Given the description of an element on the screen output the (x, y) to click on. 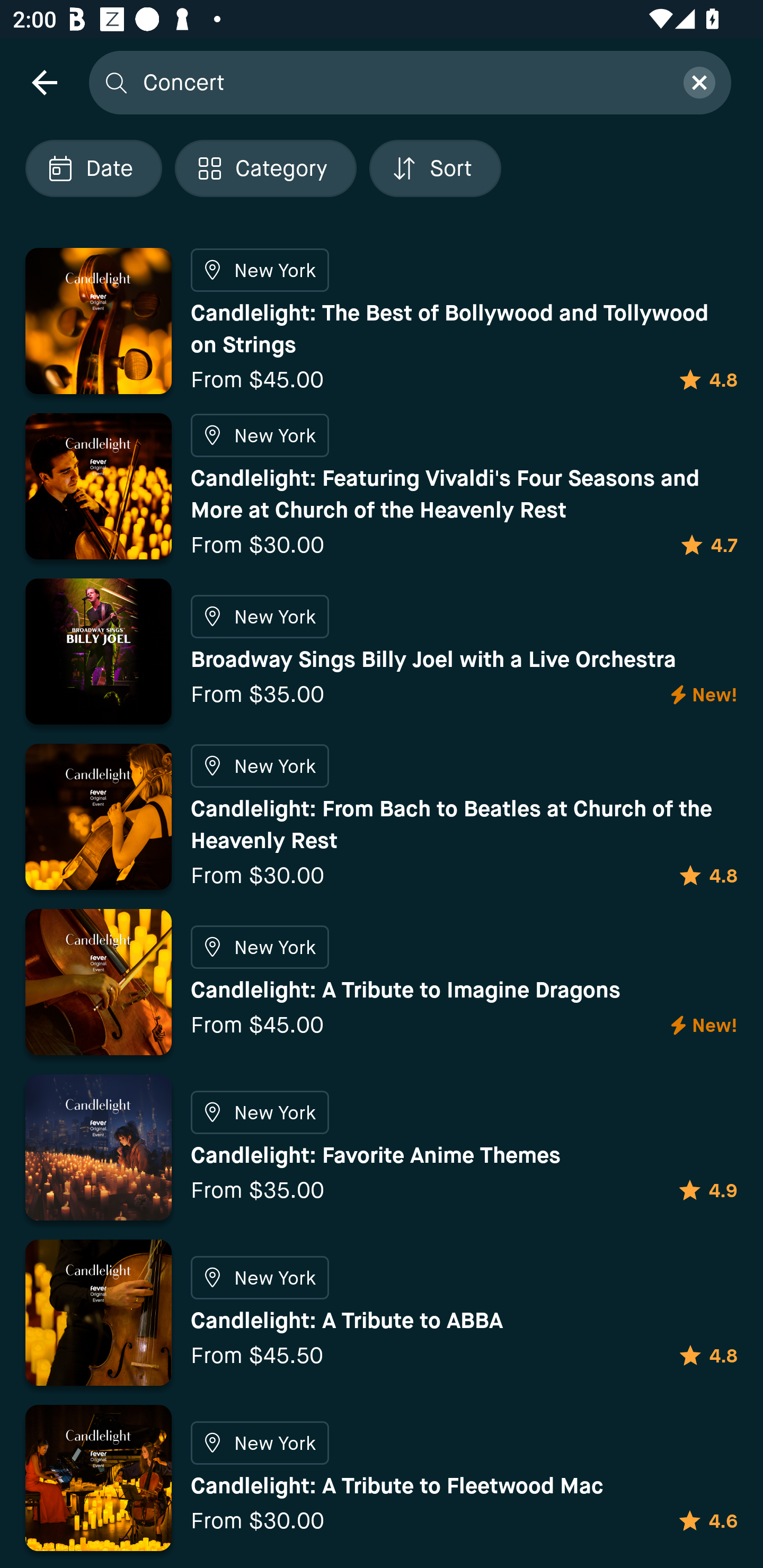
navigation icon (44, 81)
Concert (402, 81)
Localized description Date (93, 168)
Localized description Category (265, 168)
Localized description Sort (435, 168)
